Given the description of an element on the screen output the (x, y) to click on. 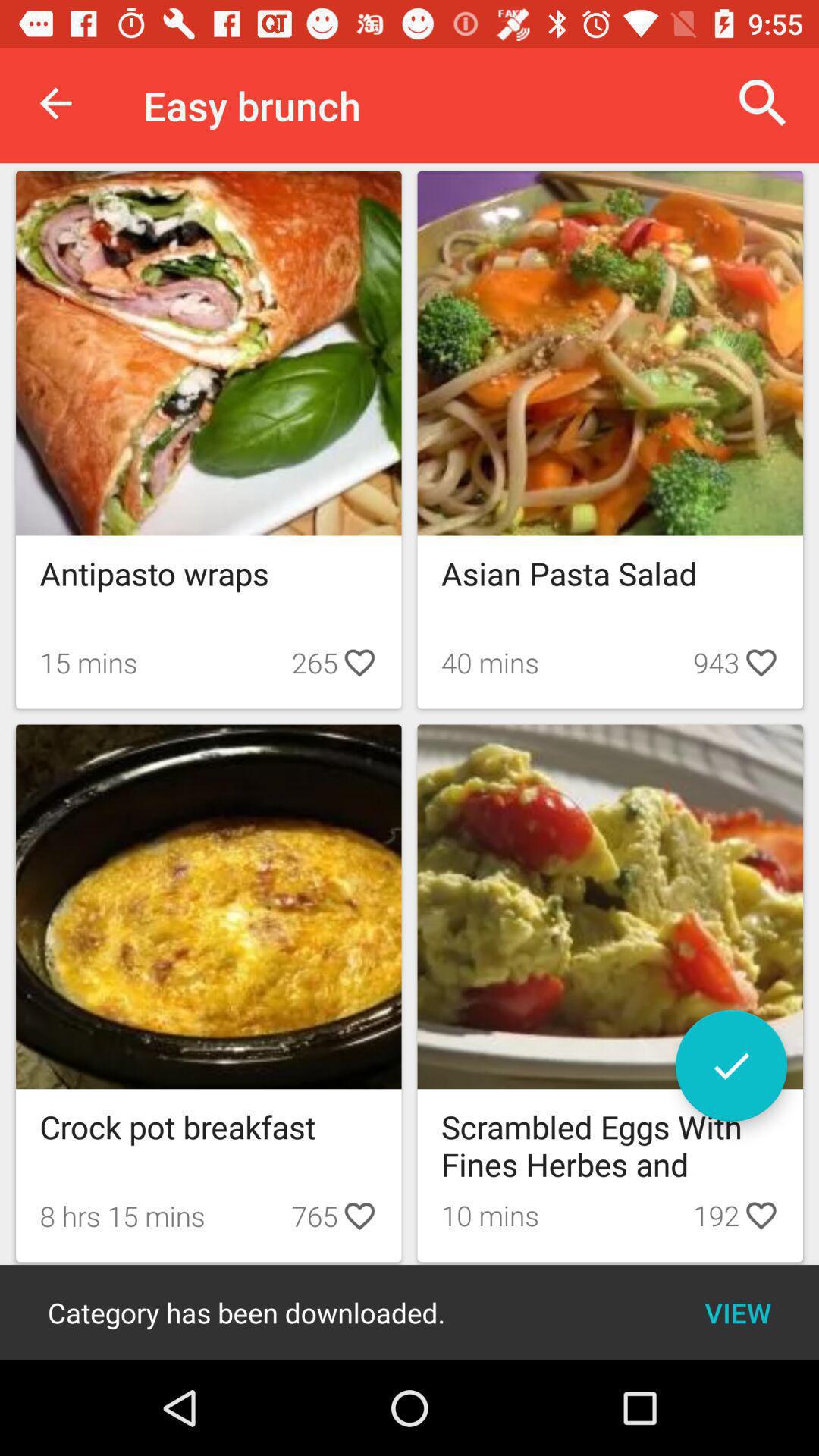
open icon above the 192 item (731, 1065)
